Given the description of an element on the screen output the (x, y) to click on. 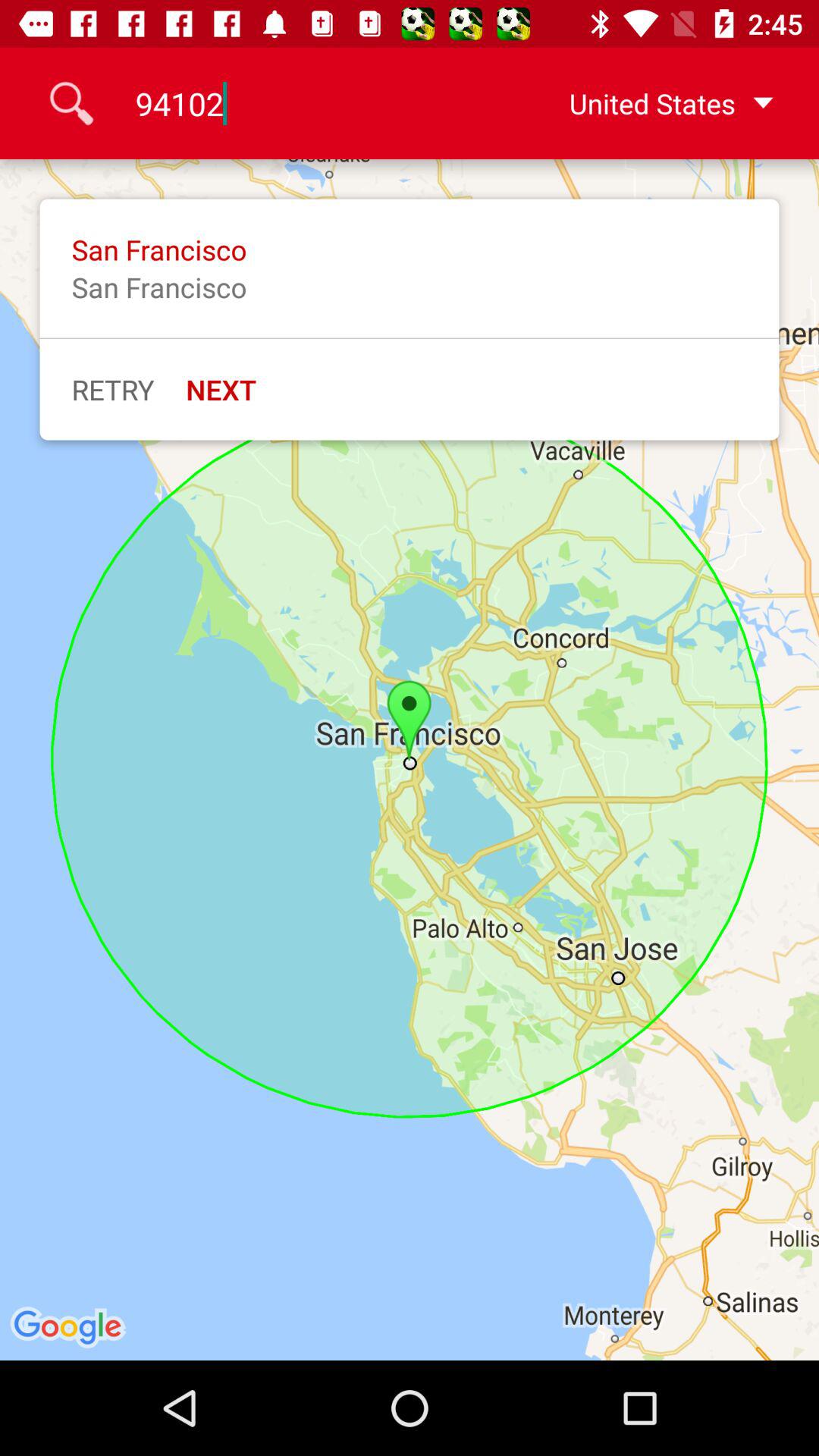
tap the icon to the left of the united states (309, 103)
